Given the description of an element on the screen output the (x, y) to click on. 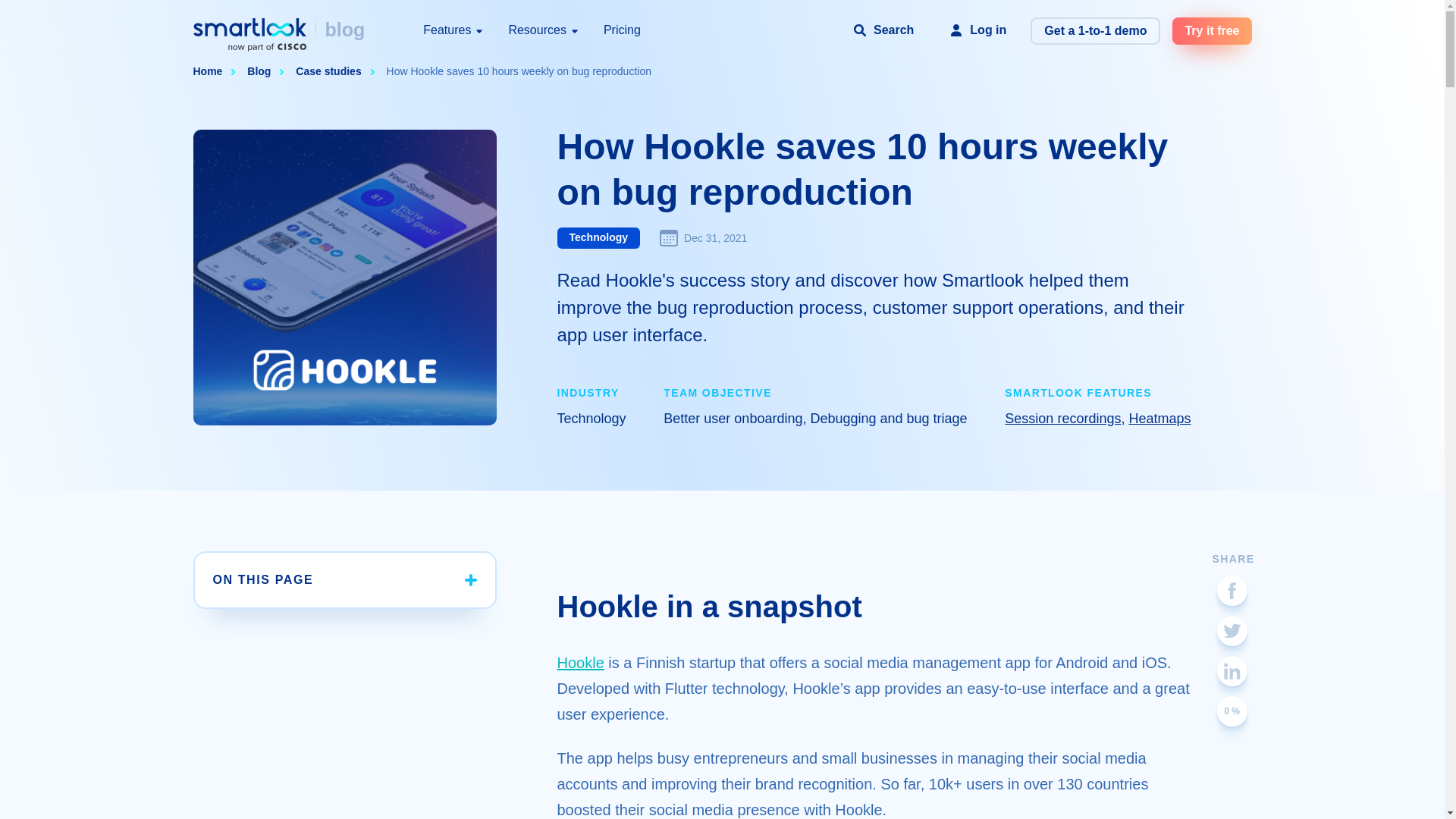
Get a 1-to-1 demo (1095, 30)
blog (344, 29)
Log in (977, 30)
Search (883, 30)
Try it free (1211, 30)
